Given the description of an element on the screen output the (x, y) to click on. 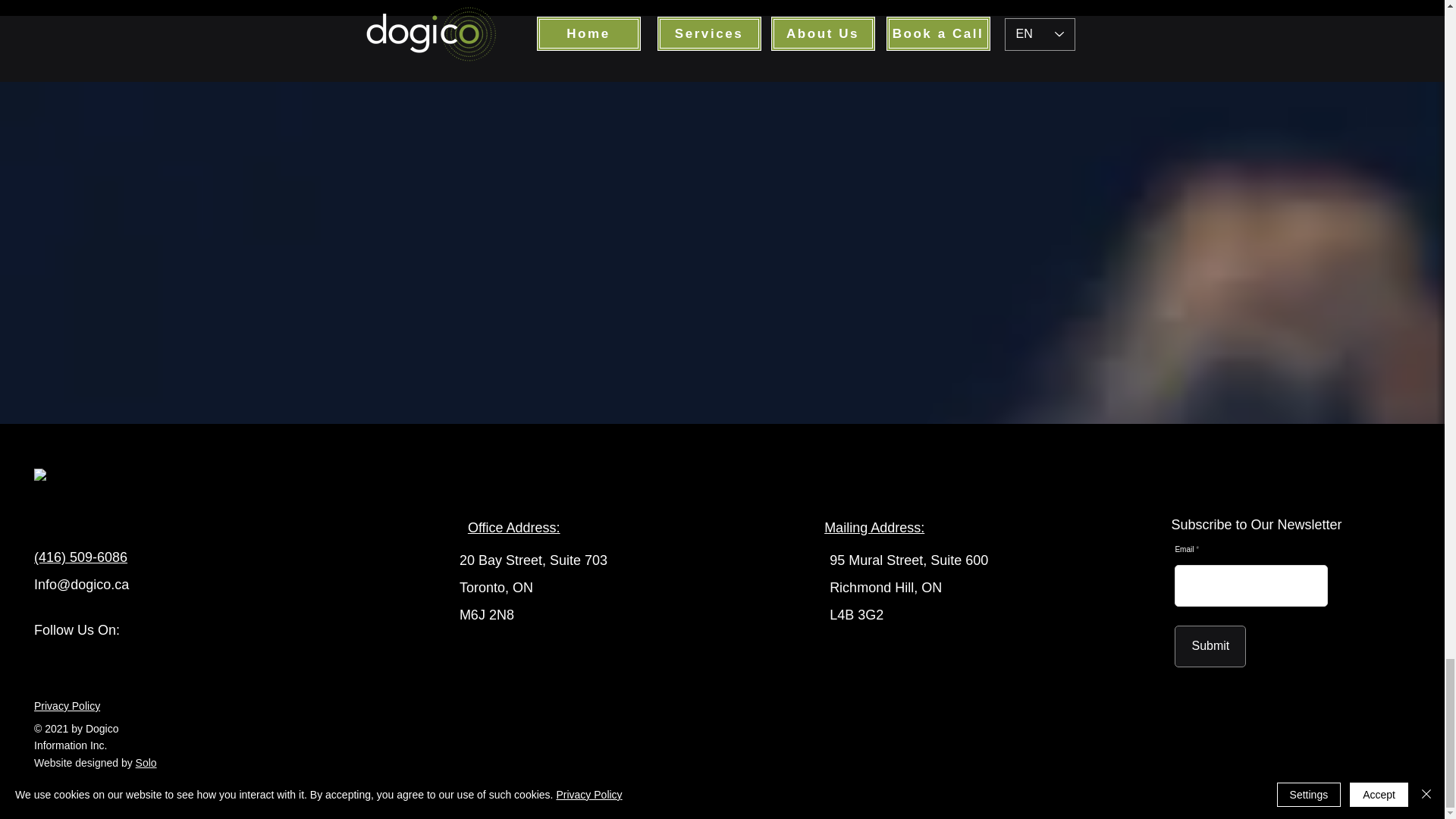
Solo Web Design (95, 770)
Privacy Policy (66, 705)
Submit (1210, 646)
